Given the description of an element on the screen output the (x, y) to click on. 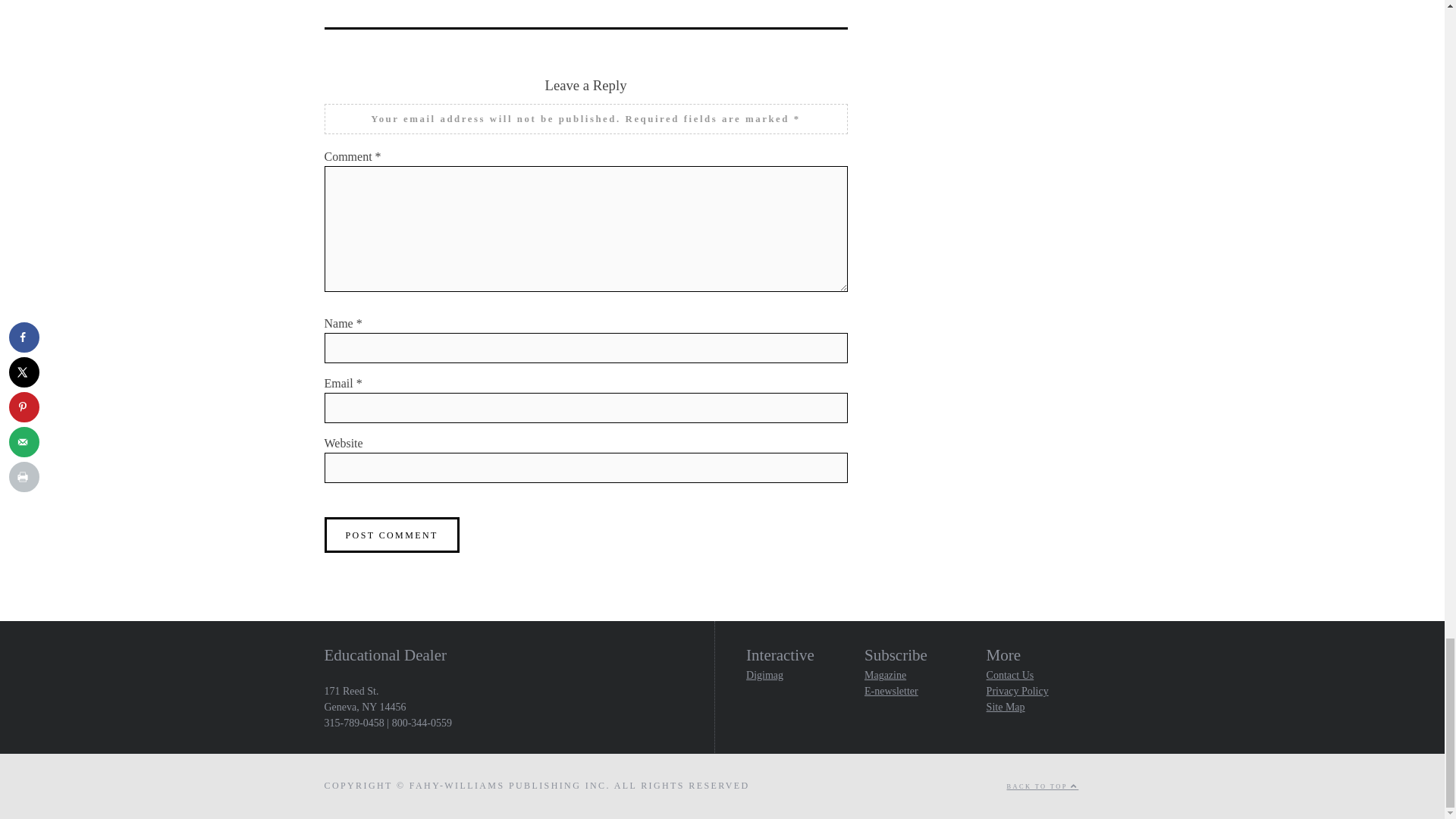
Post Comment (392, 534)
